Given the description of an element on the screen output the (x, y) to click on. 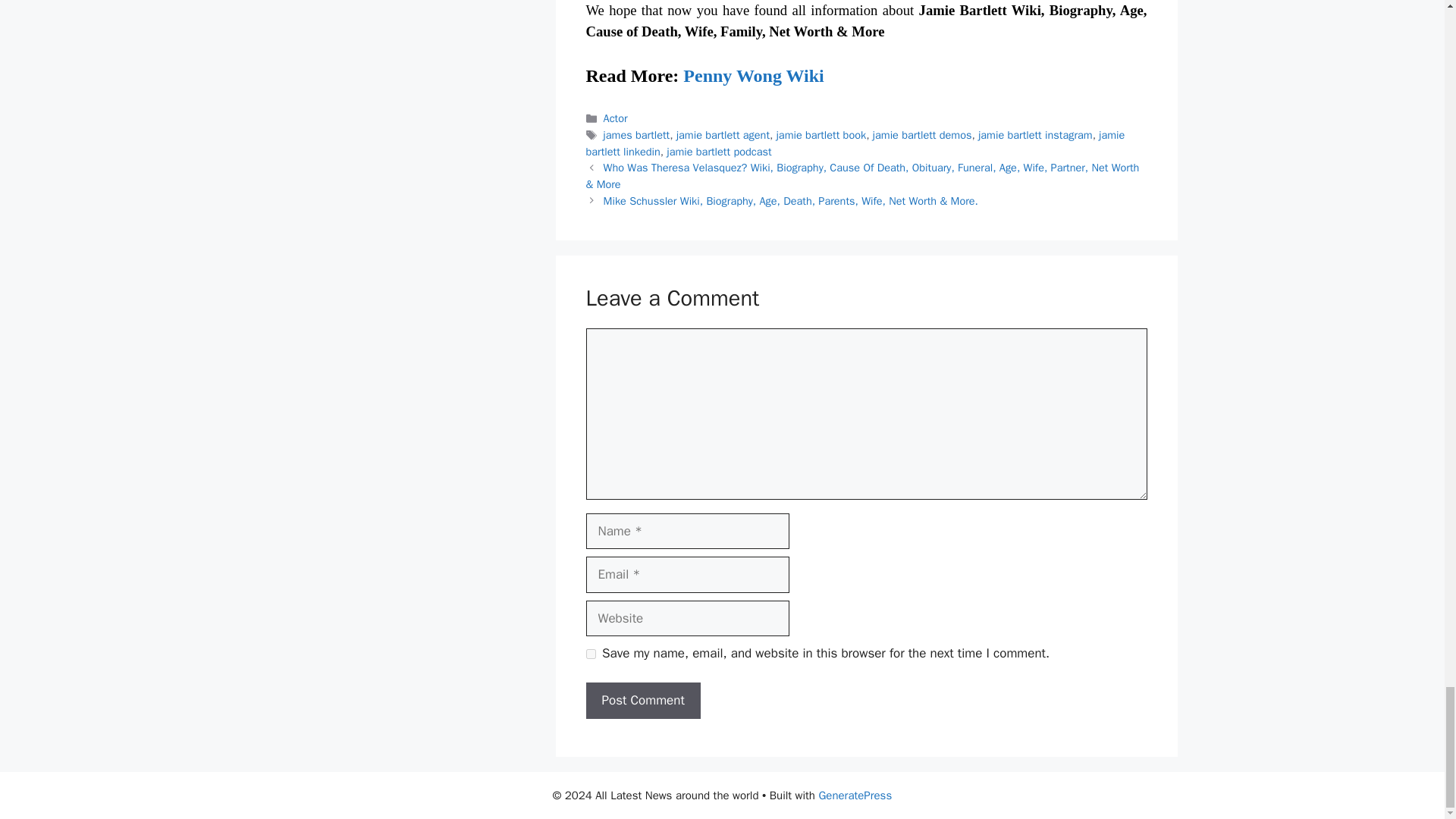
Actor (615, 118)
Post Comment (642, 700)
jamie bartlett podcast (718, 151)
GeneratePress (854, 795)
jamie bartlett demos (922, 134)
Post Comment (642, 700)
jamie bartlett book (821, 134)
jamie bartlett instagram (1035, 134)
james bartlett (636, 134)
yes (590, 654)
jamie bartlett agent (723, 134)
Penny Wong Wiki (753, 75)
jamie bartlett linkedin (854, 142)
